Given the description of an element on the screen output the (x, y) to click on. 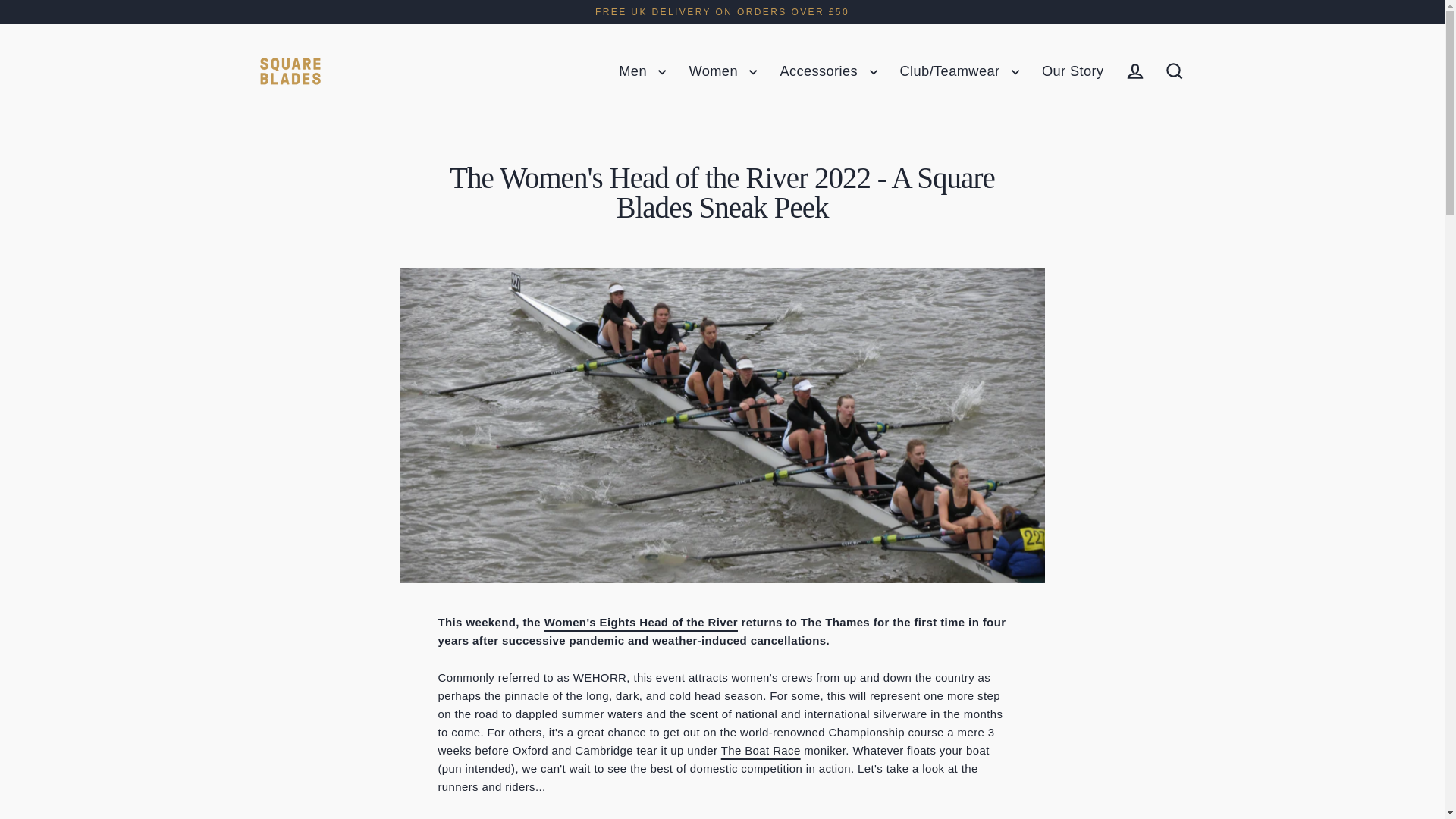
Boat Race website (760, 749)
WEHORR webiste (641, 621)
